Given the description of an element on the screen output the (x, y) to click on. 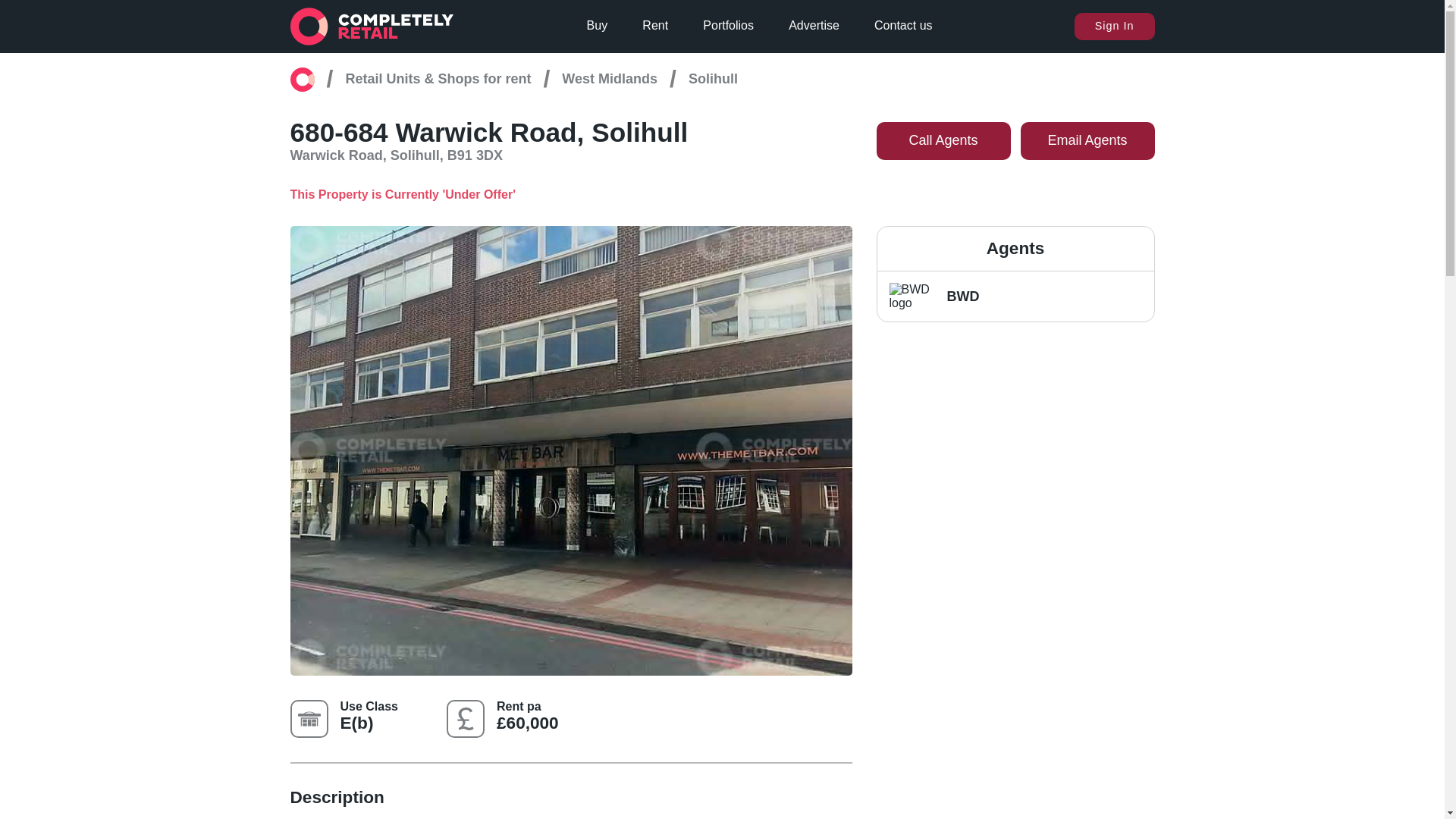
Buy (597, 26)
Solihull (713, 79)
West Midlands (610, 79)
Email Agents (1087, 139)
Sign In (1114, 26)
Contact us (903, 26)
Portfolios (728, 26)
Call Agents (943, 139)
Rent (655, 26)
